Given the description of an element on the screen output the (x, y) to click on. 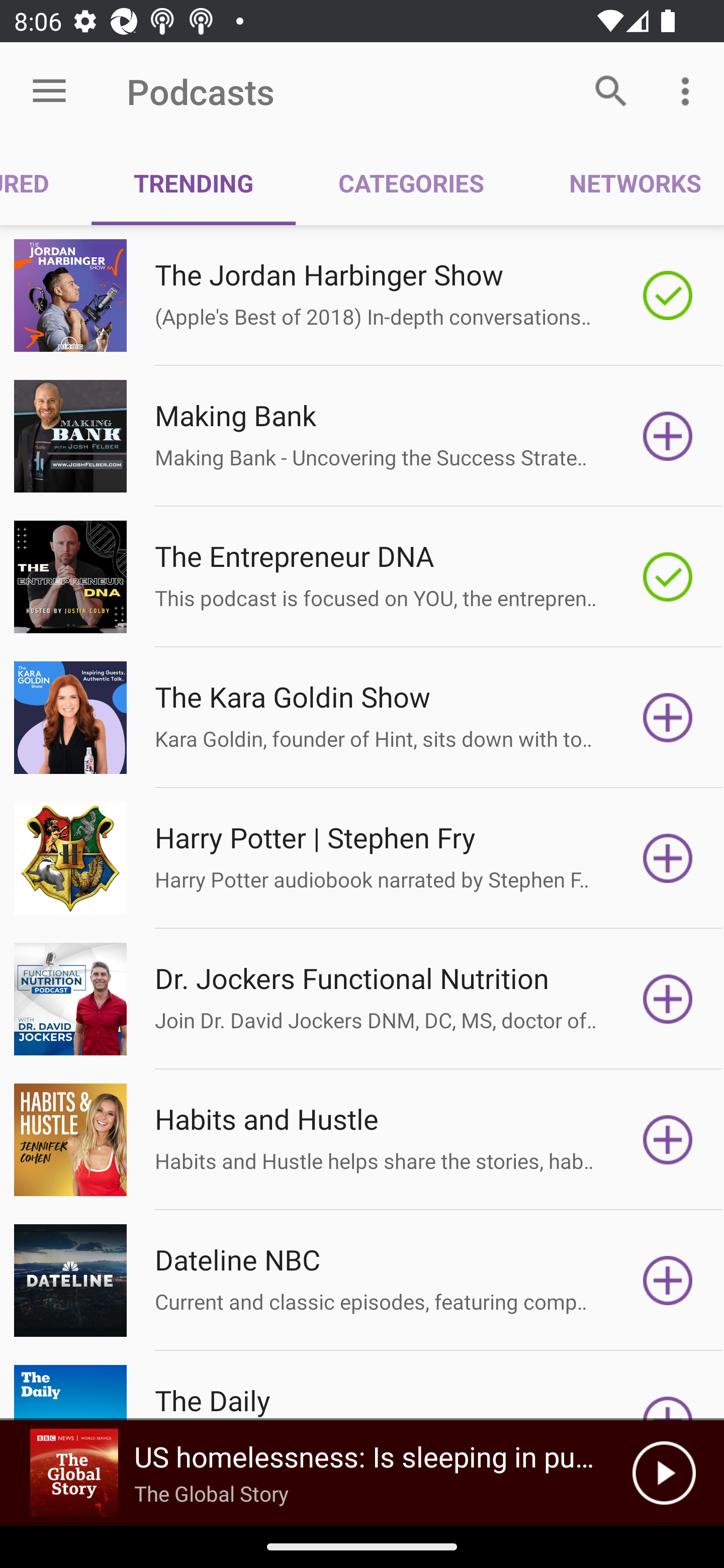
Open menu (49, 91)
Search (611, 90)
More options (688, 90)
TRENDING (193, 183)
CATEGORIES (410, 183)
NETWORKS (625, 183)
Subscribed (667, 295)
Subscribe (667, 435)
Subscribed (667, 576)
Subscribe (667, 717)
Subscribe (667, 858)
Subscribe (667, 998)
Subscribe (667, 1139)
Subscribe (667, 1280)
Play (663, 1472)
